Given the description of an element on the screen output the (x, y) to click on. 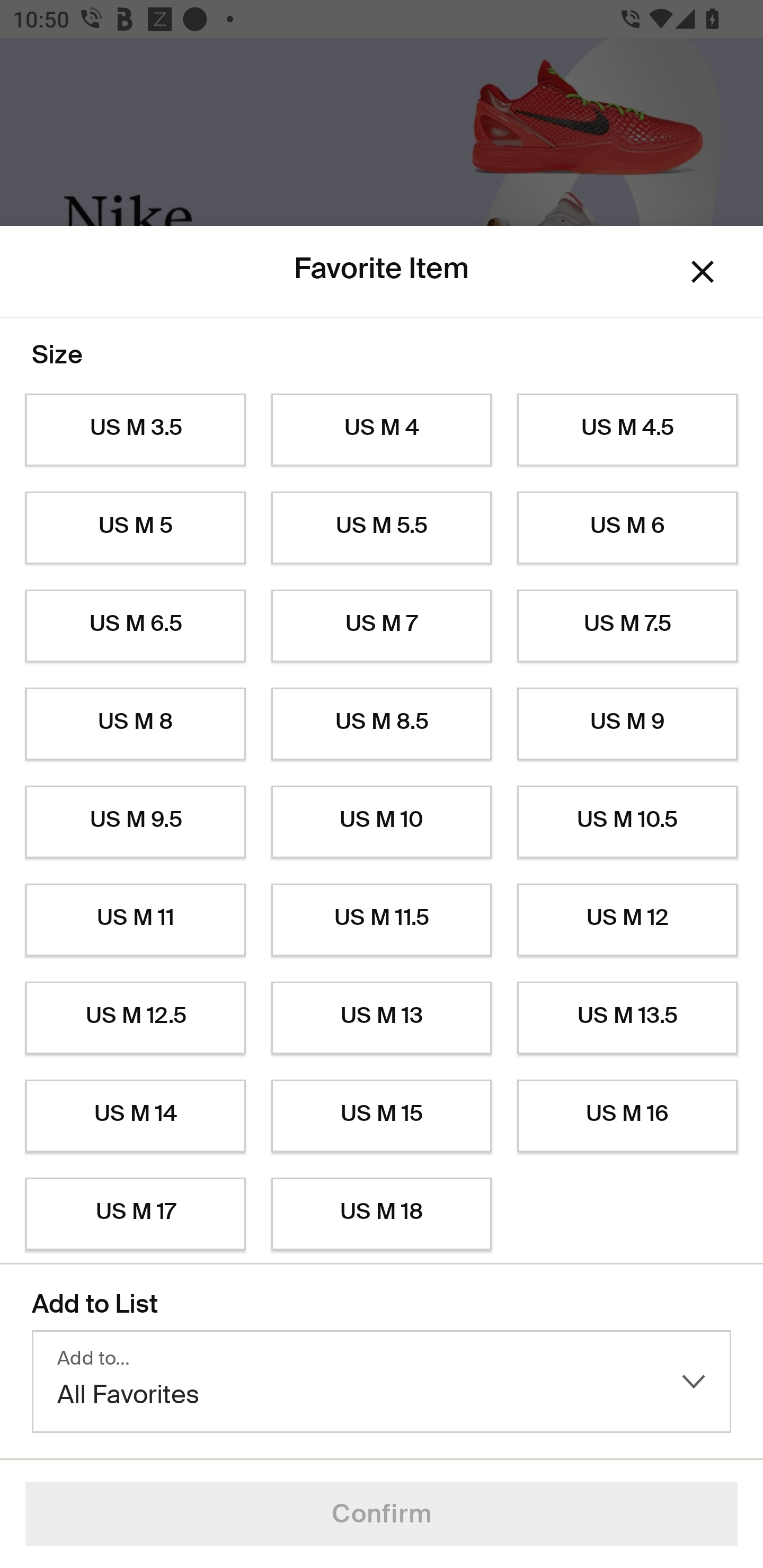
Dismiss (702, 271)
US M 3.5 (135, 430)
US M 4 (381, 430)
US M 4.5 (627, 430)
US M 5 (135, 527)
US M 5.5 (381, 527)
US M 6 (627, 527)
US M 6.5 (135, 626)
US M 7 (381, 626)
US M 7.5 (627, 626)
US M 8 (135, 724)
US M 8.5 (381, 724)
US M 9 (627, 724)
US M 9.5 (135, 822)
US M 10 (381, 822)
US M 10.5 (627, 822)
US M 11 (135, 919)
US M 11.5 (381, 919)
US M 12 (627, 919)
US M 12.5 (135, 1018)
US M 13 (381, 1018)
US M 13.5 (627, 1018)
US M 14 (135, 1116)
US M 15 (381, 1116)
US M 16 (627, 1116)
US M 17 (135, 1214)
US M 18 (381, 1214)
Add to… All Favorites (381, 1381)
Confirm (381, 1513)
